Given the description of an element on the screen output the (x, y) to click on. 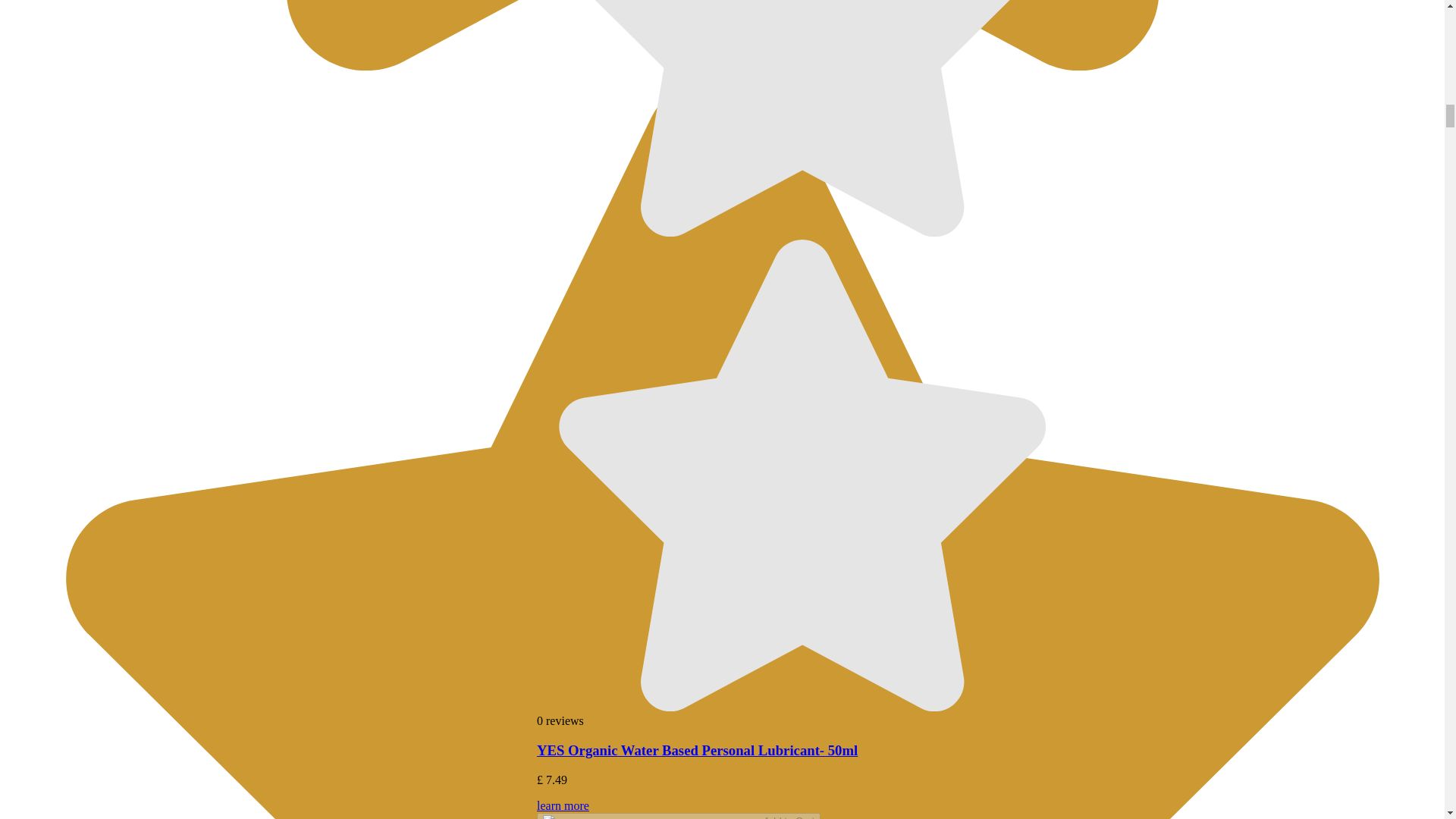
YES Organic Water Based Personal Lubricant- 50ml (697, 750)
learn more (802, 809)
